Given the description of an element on the screen output the (x, y) to click on. 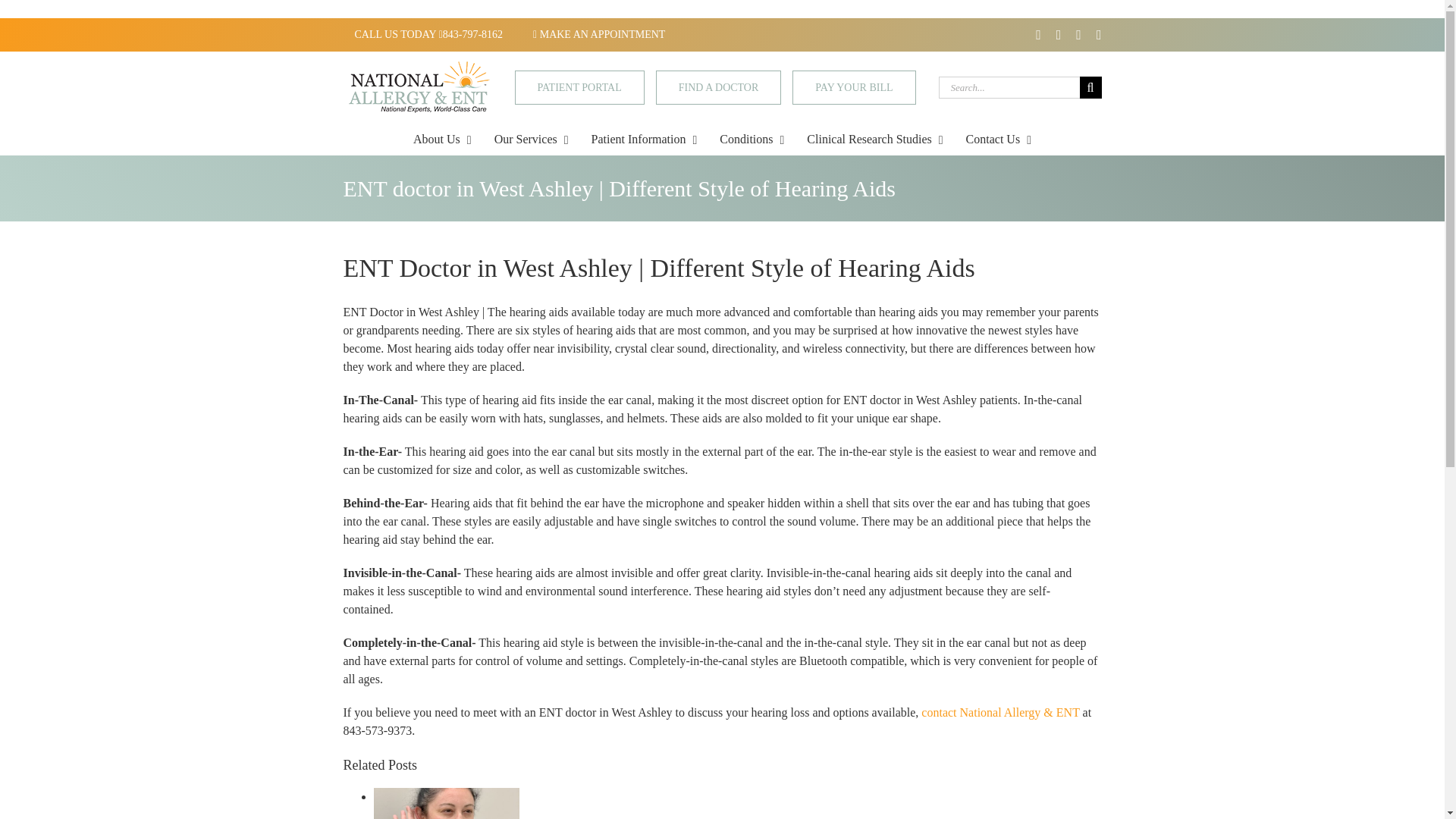
PAY YOUR BILL (853, 87)
MAKE AN APPOINTMENT (599, 34)
About Us (442, 139)
Our Services (532, 139)
Patient Information (644, 139)
FIND A DOCTOR (718, 87)
PATIENT PORTAL (580, 87)
CALL US TODAY 843-797-8162 (427, 34)
